Given the description of an element on the screen output the (x, y) to click on. 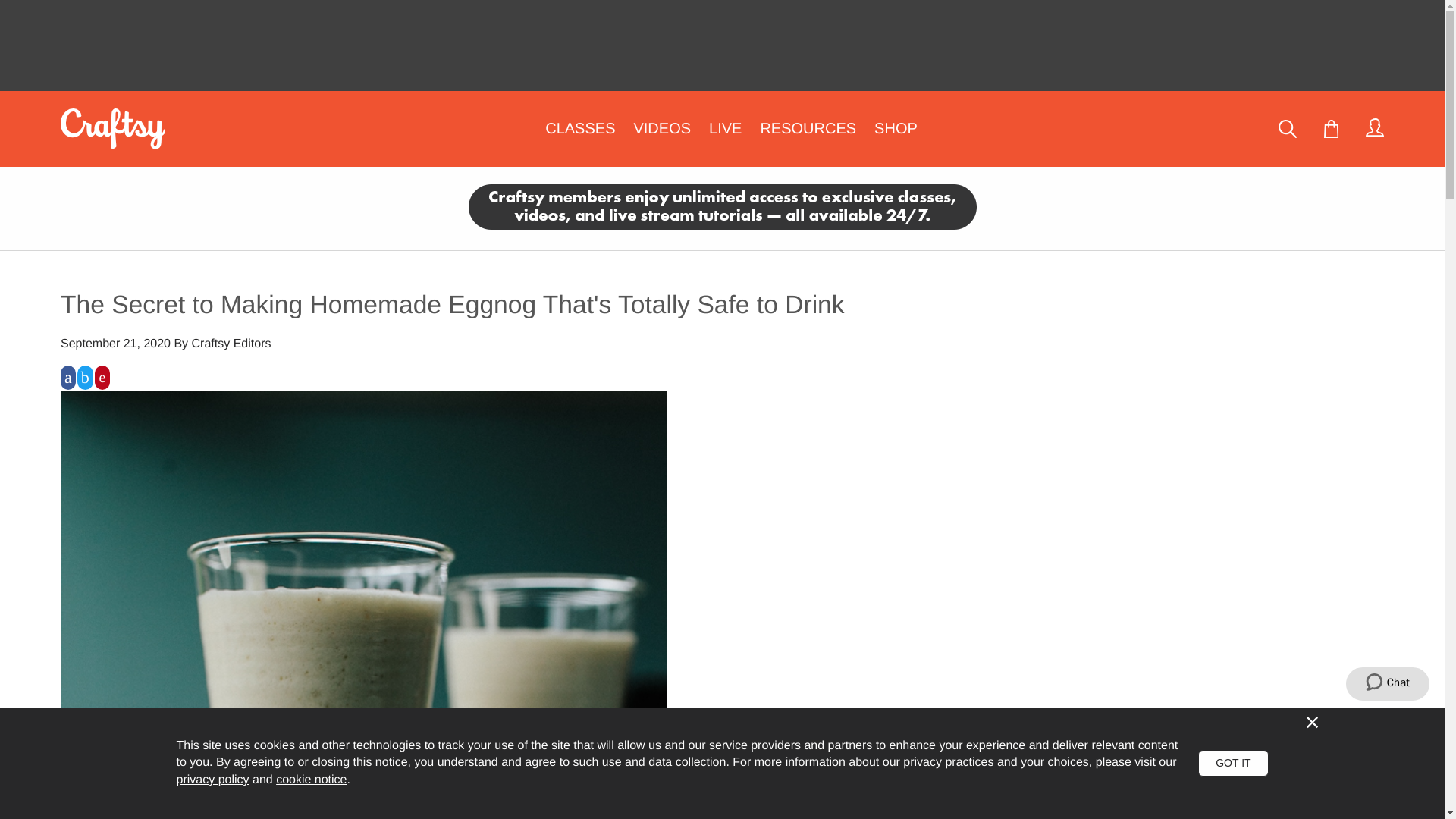
CLASSES (579, 128)
Craftsy Clickable Logo (117, 128)
Craftsy Editors (231, 343)
RESOURCES (808, 128)
Home (113, 128)
